Given the description of an element on the screen output the (x, y) to click on. 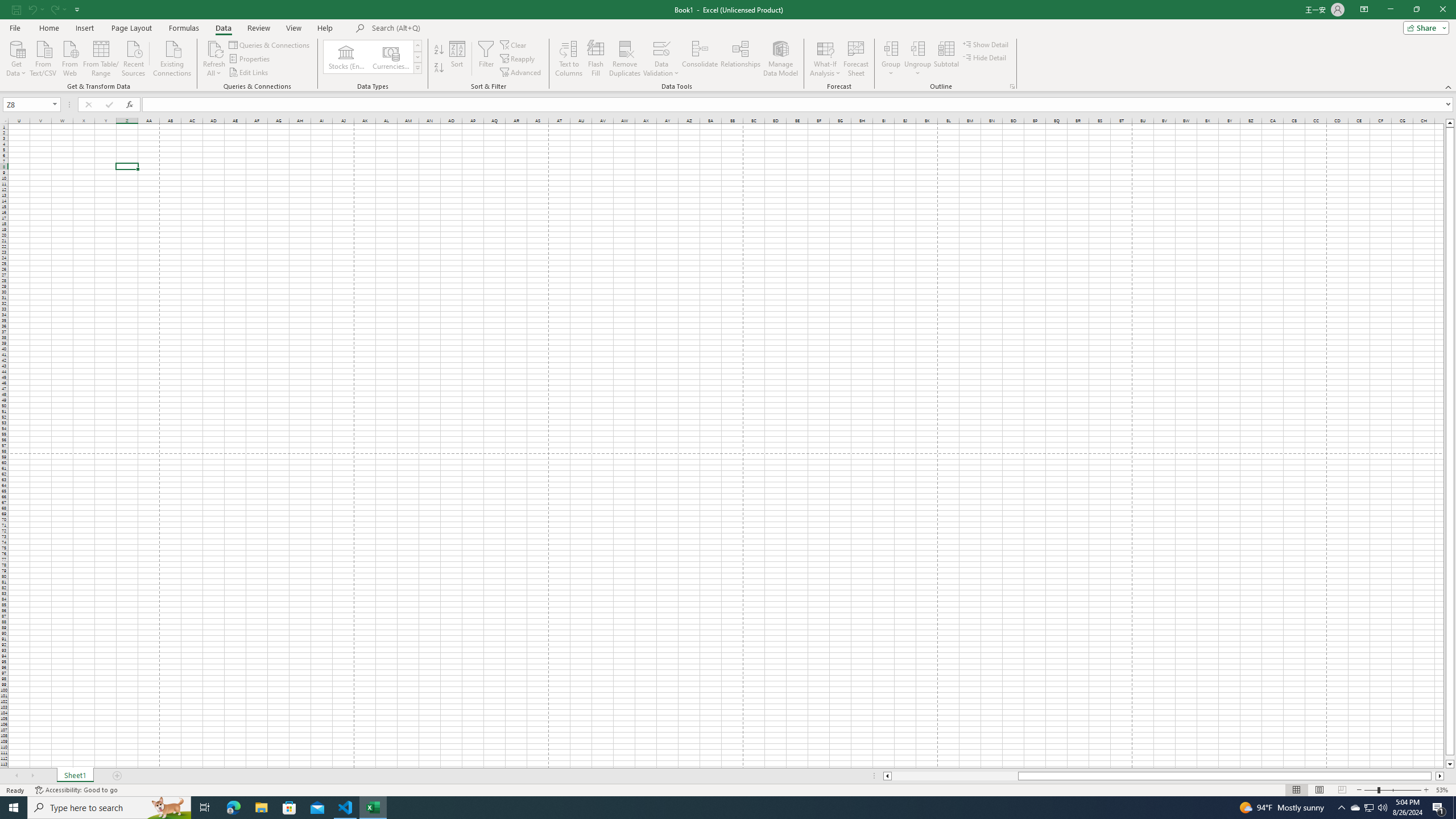
Page left (954, 775)
Reapply (517, 58)
Sort... (456, 58)
Stocks (English) (346, 56)
Text to Columns... (568, 58)
Consolidate... (700, 58)
